Given the description of an element on the screen output the (x, y) to click on. 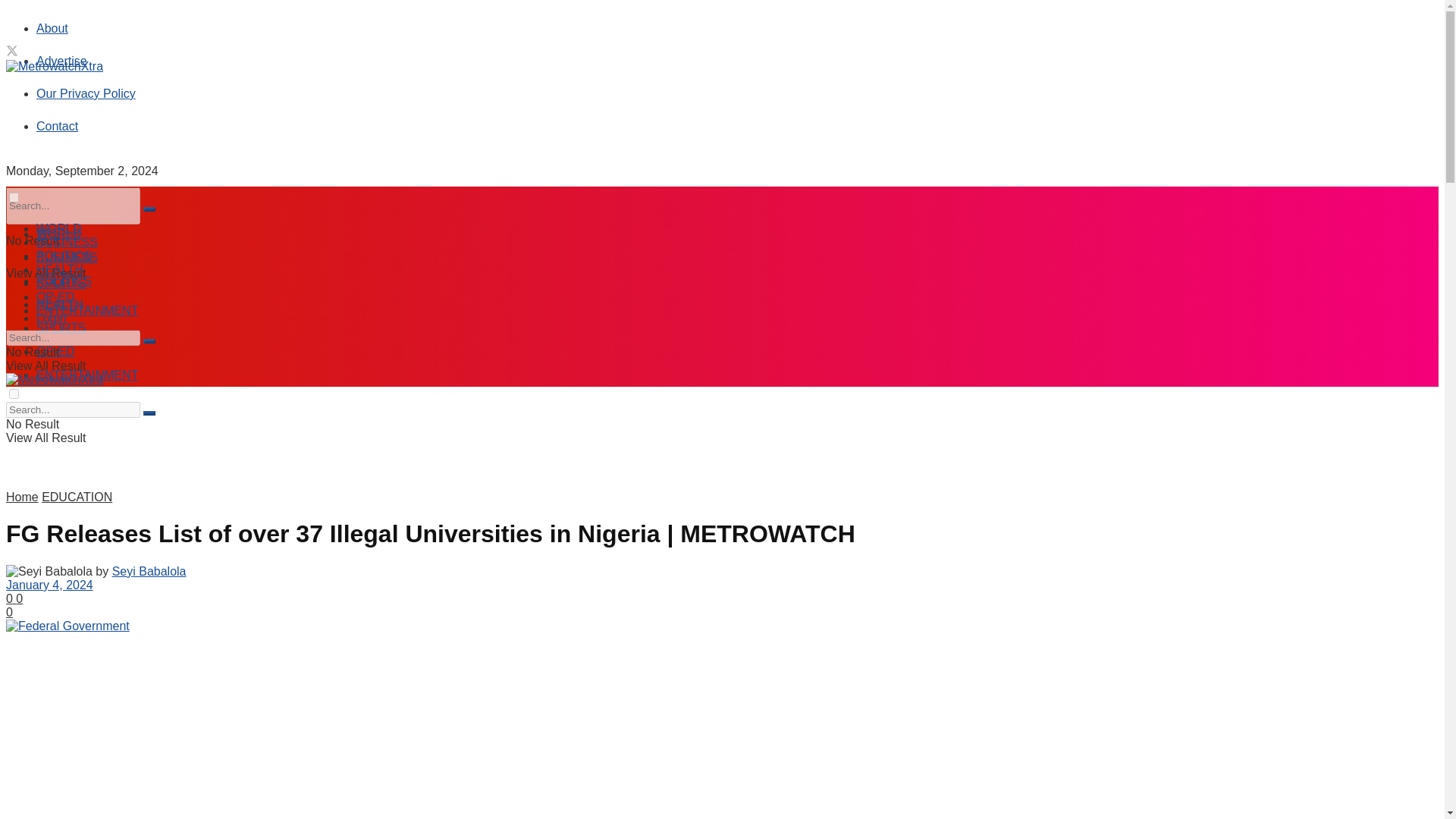
Our Privacy Policy (85, 92)
POLITICS (63, 280)
ENTERTAINMENT (87, 374)
OP-ED (55, 350)
on (13, 197)
About (52, 28)
Advertise (61, 60)
HEALTH (59, 304)
WORLD (58, 228)
Seyi Babalola (149, 571)
